Given the description of an element on the screen output the (x, y) to click on. 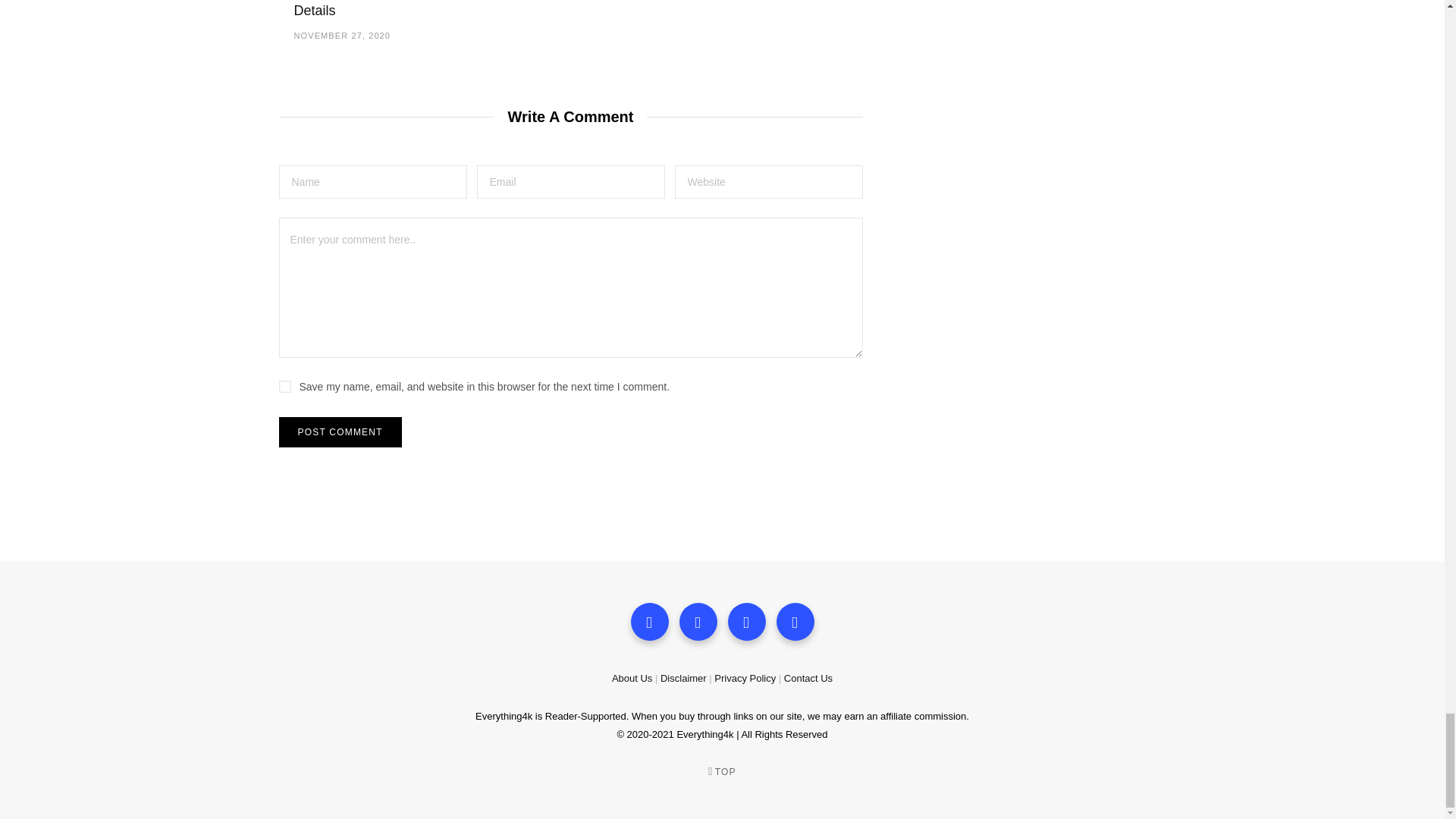
Post Comment (340, 431)
Privacy Policy (745, 677)
Disclaimer (683, 677)
Contact Us (808, 677)
yes (285, 386)
Post Comment (340, 431)
How To Tell If HDMI Cable Is 4k: Know in Details (356, 9)
About Us (631, 677)
